Given the description of an element on the screen output the (x, y) to click on. 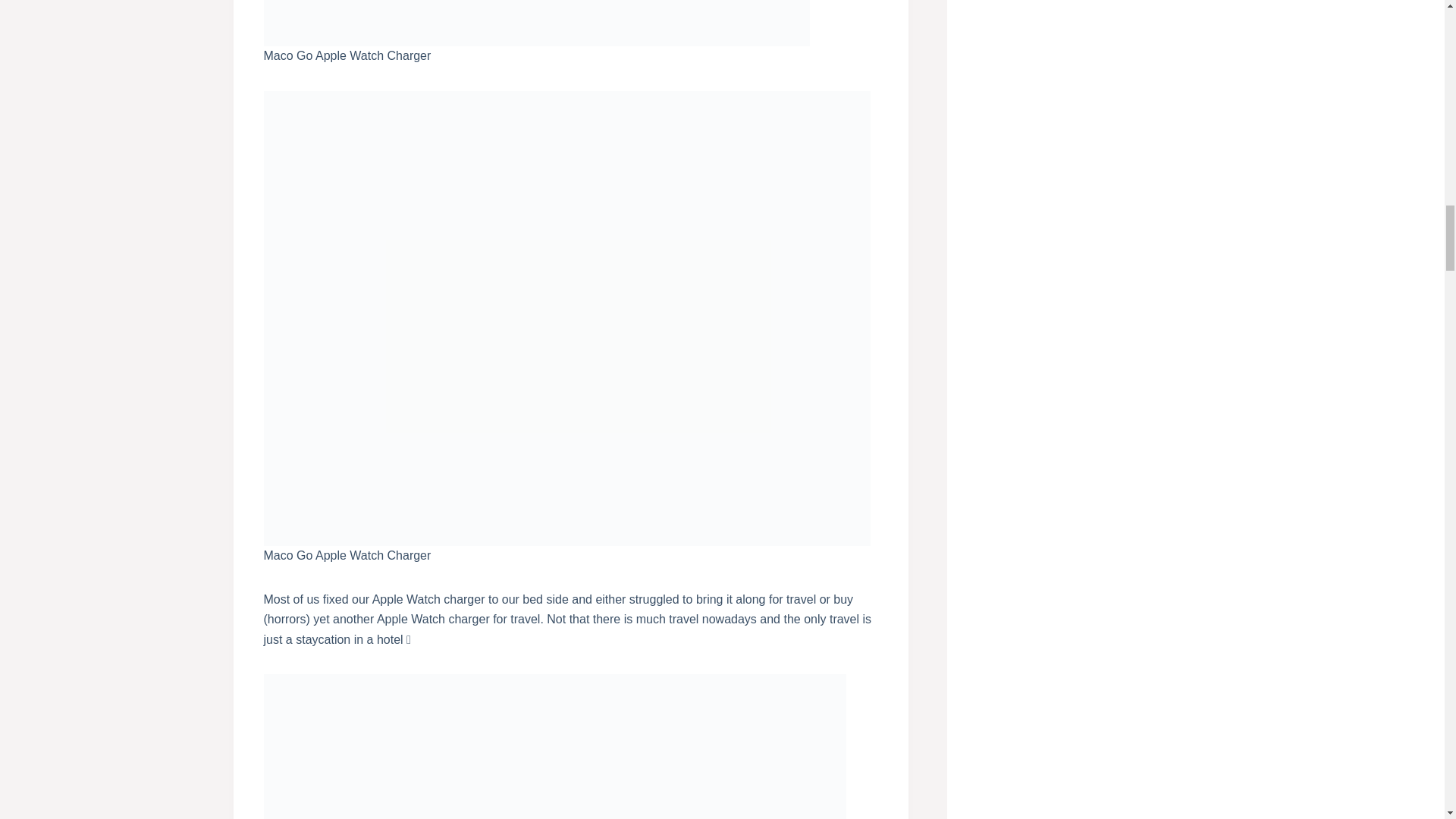
Maco Go Apple Watch Charger 5 (554, 746)
Maco Go Apple Watch Charger 3 (536, 22)
